Given the description of an element on the screen output the (x, y) to click on. 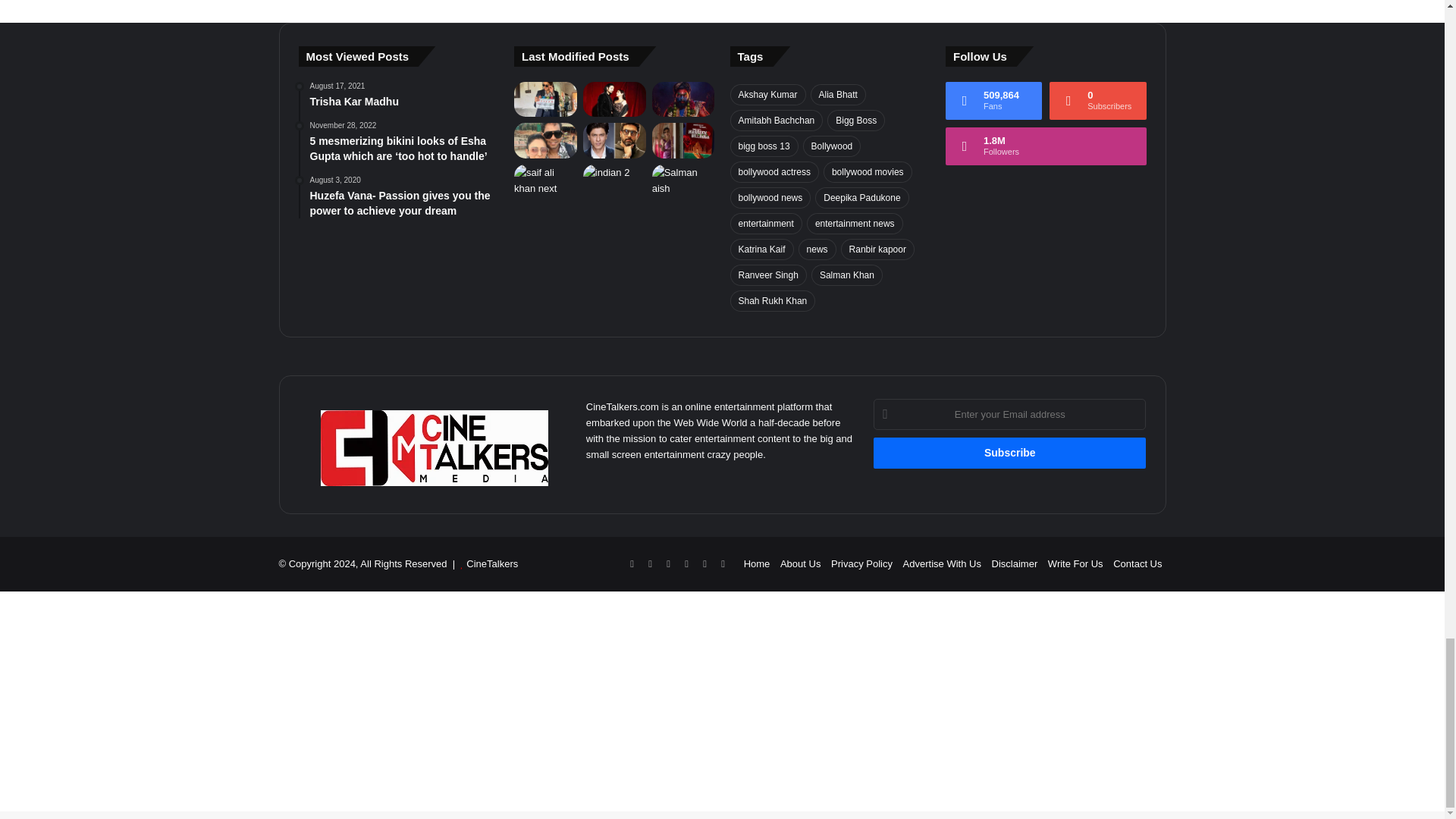
Subscribe (1009, 452)
